Given the description of an element on the screen output the (x, y) to click on. 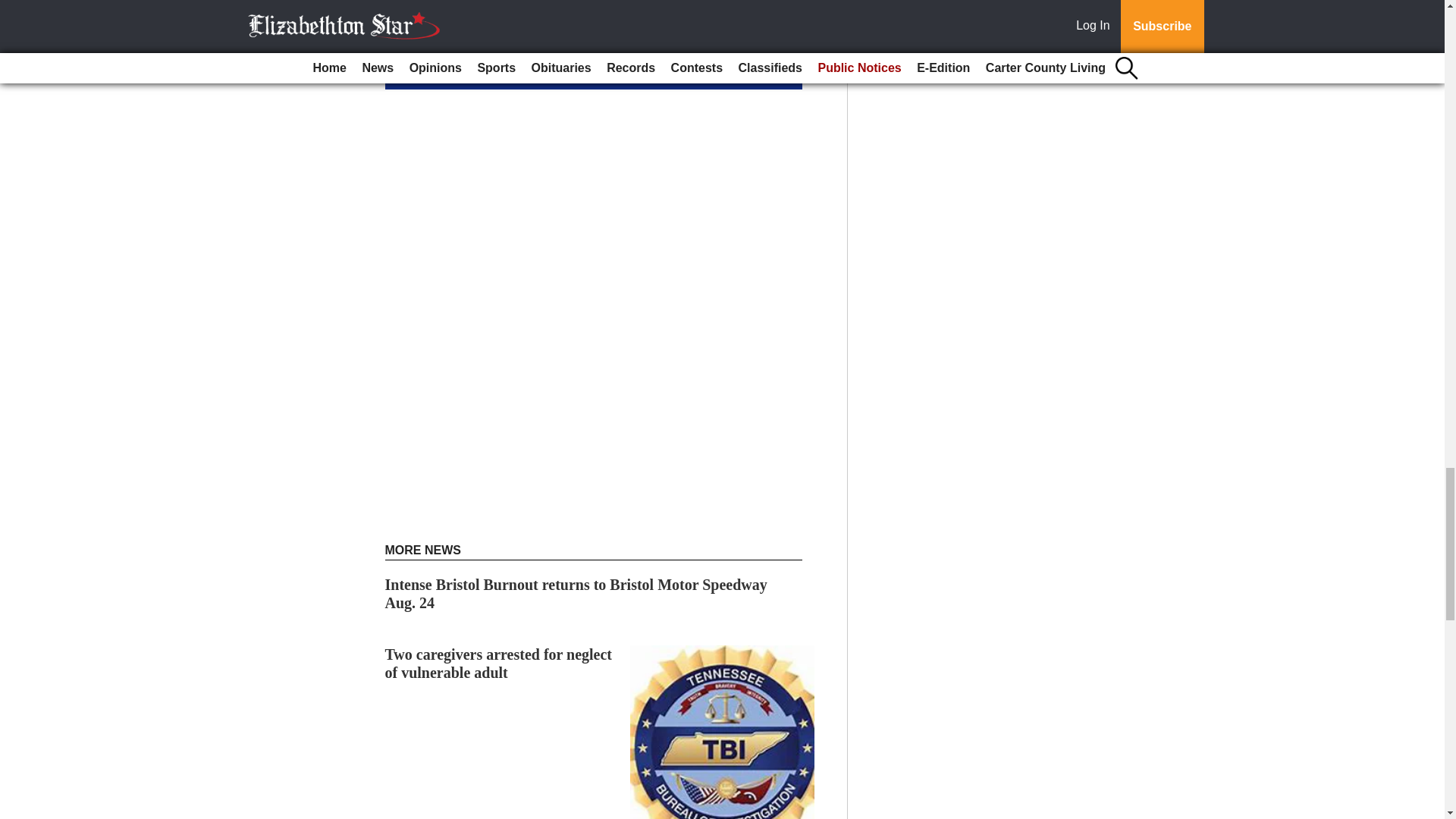
Two caregivers arrested for neglect of vulnerable adult (498, 663)
Two caregivers arrested for neglect of vulnerable adult (498, 663)
Subscribe (434, 72)
Subscribe (434, 72)
